Given the description of an element on the screen output the (x, y) to click on. 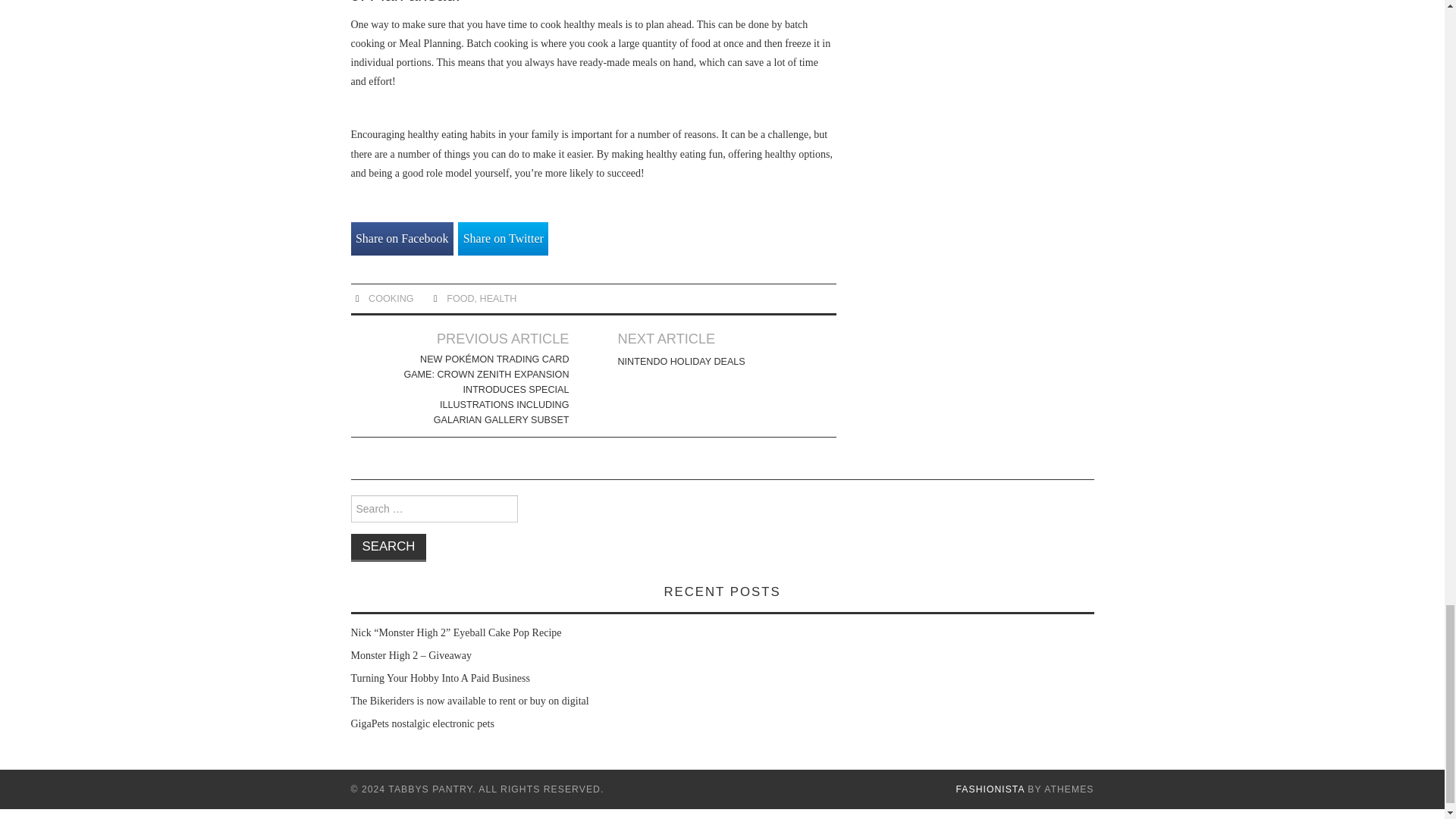
Share on Twitter (503, 238)
Search (388, 547)
FOOD (460, 298)
COOKING (390, 298)
Search (388, 547)
NINTENDO HOLIDAY DEALS (680, 361)
Share on Facebook (401, 238)
Search for: (433, 508)
HEALTH (498, 298)
